Given the description of an element on the screen output the (x, y) to click on. 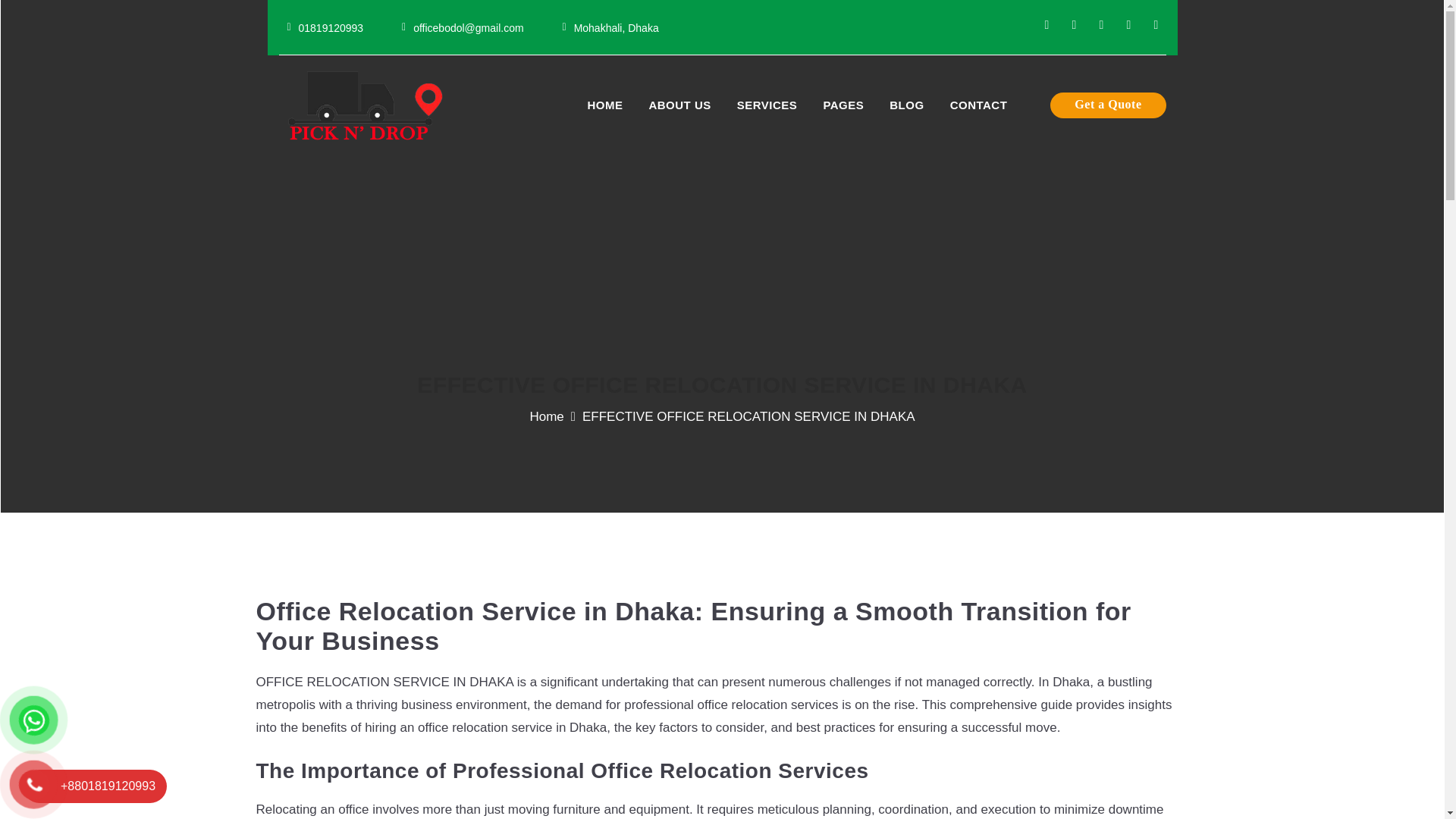
BLOG (905, 104)
PAGES (842, 104)
Home (546, 416)
SERVICES (767, 104)
Mohakhali, Dhaka (619, 27)
HOME (604, 104)
ABOUT US (679, 104)
CONTACT (979, 104)
Get a Quote (1107, 104)
01819120993 (335, 27)
